Given the description of an element on the screen output the (x, y) to click on. 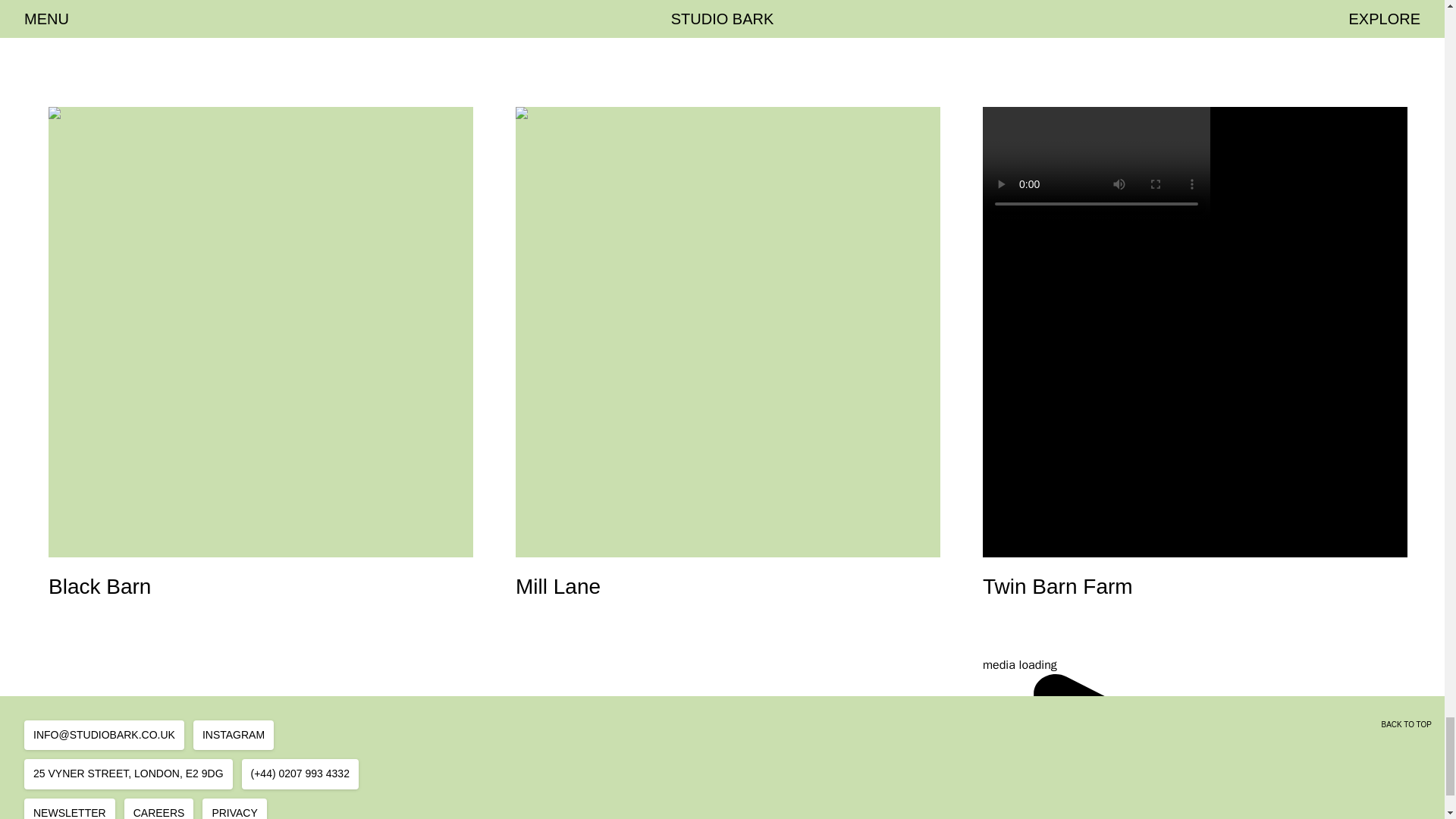
CAREERS (158, 808)
PRIVACY (234, 808)
25 VYNER STREET, LONDON, E2 9DG (69, 808)
INSTAGRAM (128, 773)
